Given the description of an element on the screen output the (x, y) to click on. 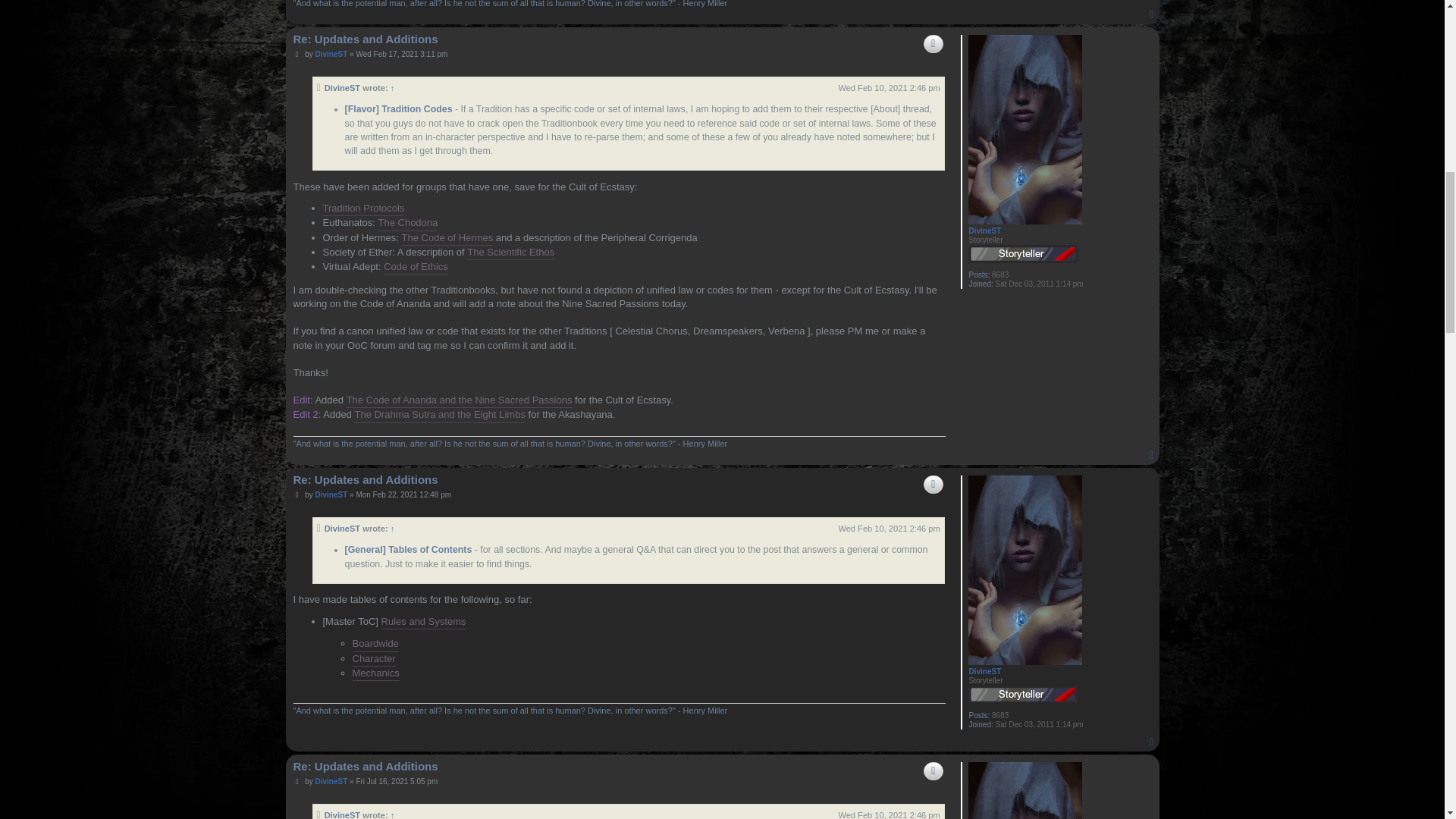
DivineST (984, 230)
The Code of Ananda and the Nine Sacred Passions (459, 400)
Re: Updates and Additions (365, 39)
Top (1151, 455)
DivineST (984, 671)
Reply with quote (933, 484)
Post (297, 53)
Top (1151, 14)
The Code of Hermes (447, 237)
Code of Ethics (416, 267)
The Chodona (407, 223)
Top (1151, 455)
DivineST (342, 88)
Reply with quote (933, 44)
The Scientific Ethos (510, 252)
